Given the description of an element on the screen output the (x, y) to click on. 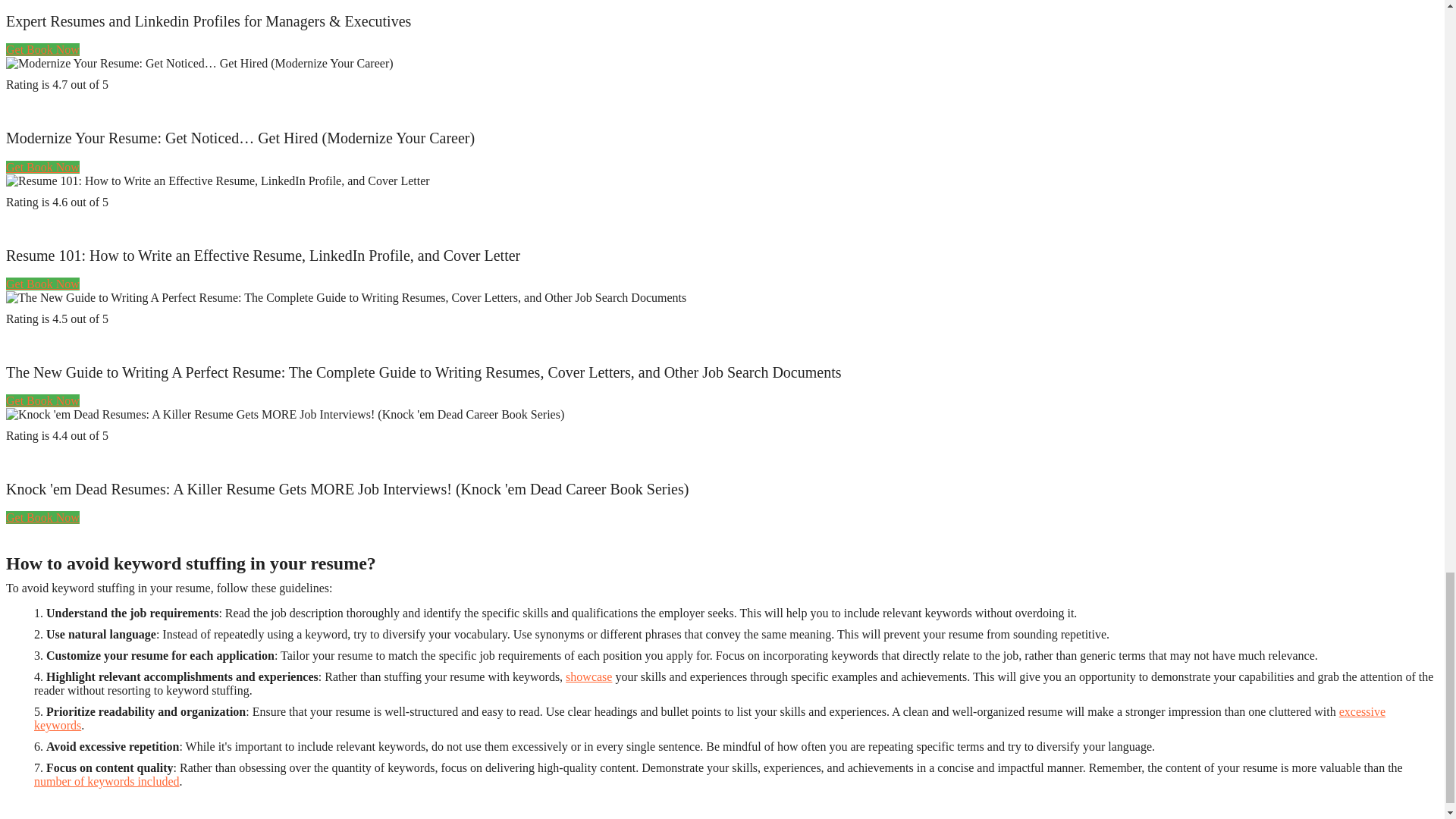
showcase (588, 676)
Get Book Now (42, 283)
Get Book Now (42, 400)
Get Book Now (42, 166)
Get Book Now (42, 49)
Get Book Now (42, 517)
